Given the description of an element on the screen output the (x, y) to click on. 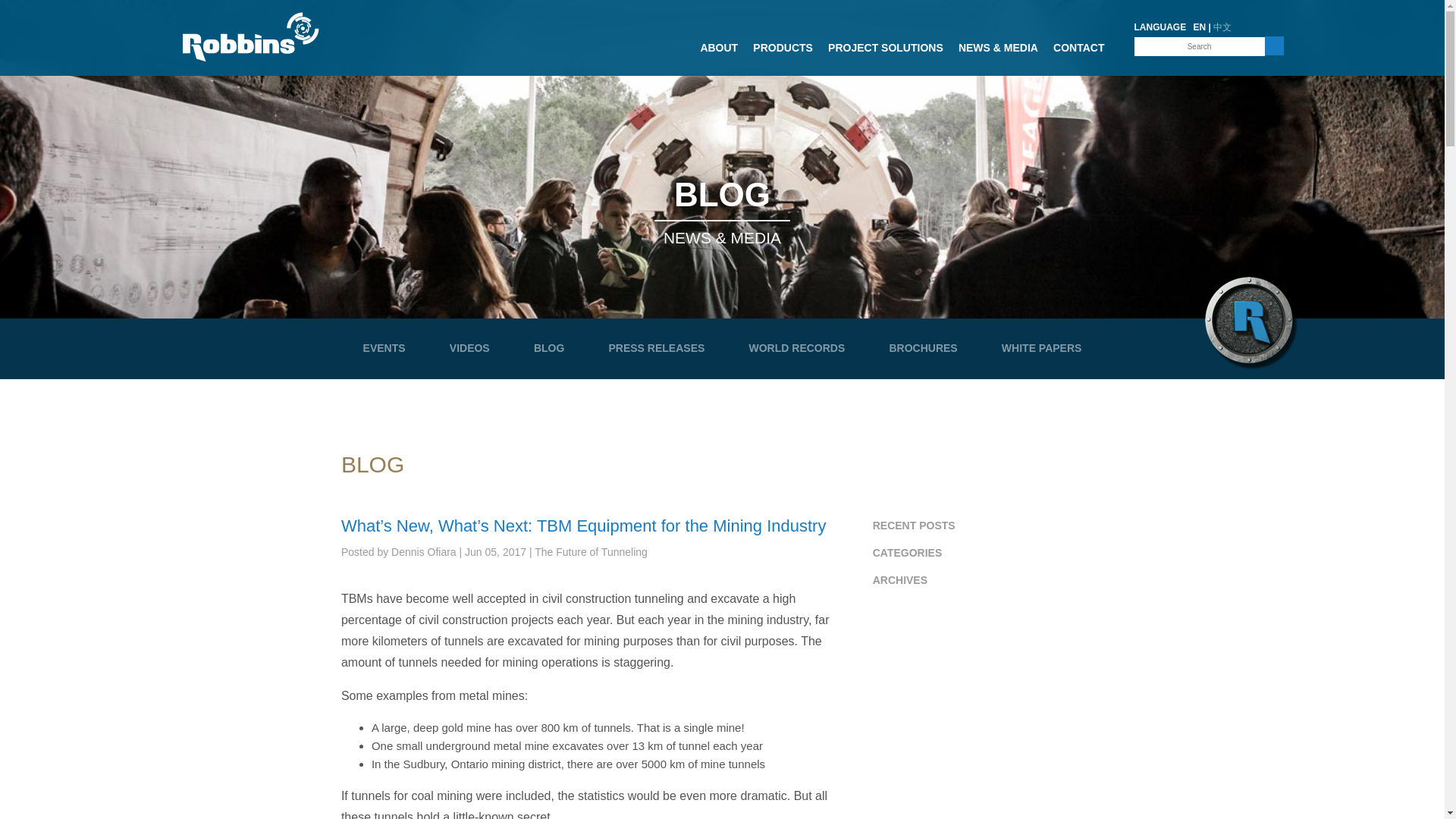
PRODUCTS (782, 51)
ABOUT (719, 51)
PROJECT SOLUTIONS (885, 51)
